Given the description of an element on the screen output the (x, y) to click on. 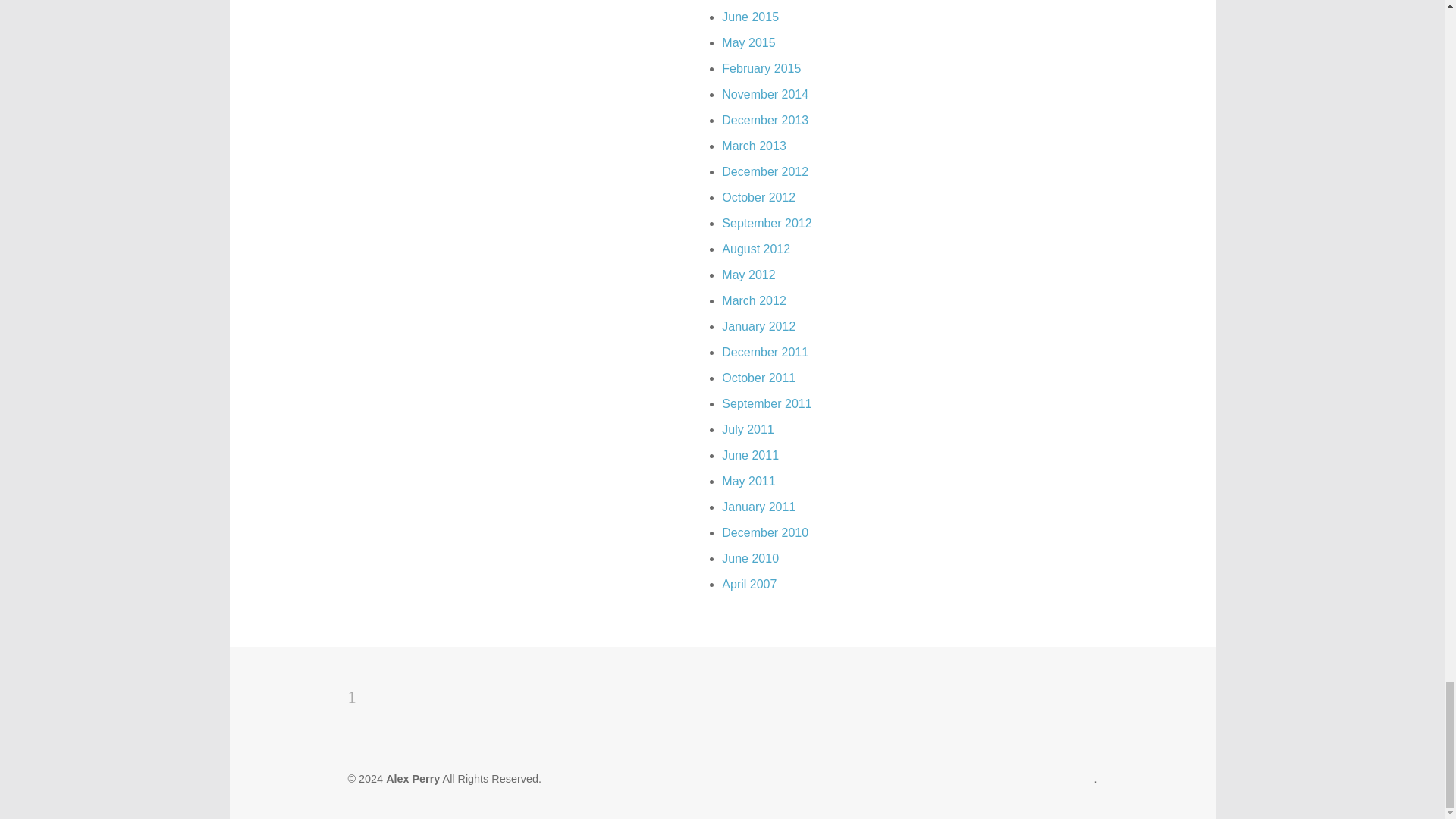
August 2012 (756, 248)
March 2013 (754, 145)
June 2015 (750, 16)
January 2012 (758, 326)
December 2012 (765, 171)
December 2011 (765, 351)
March 2012 (754, 300)
December 2013 (765, 119)
May 2015 (748, 42)
September 2012 (766, 223)
October 2011 (758, 377)
September 2011 (766, 403)
November 2014 (765, 93)
February 2015 (761, 68)
July 2011 (748, 429)
